Given the description of an element on the screen output the (x, y) to click on. 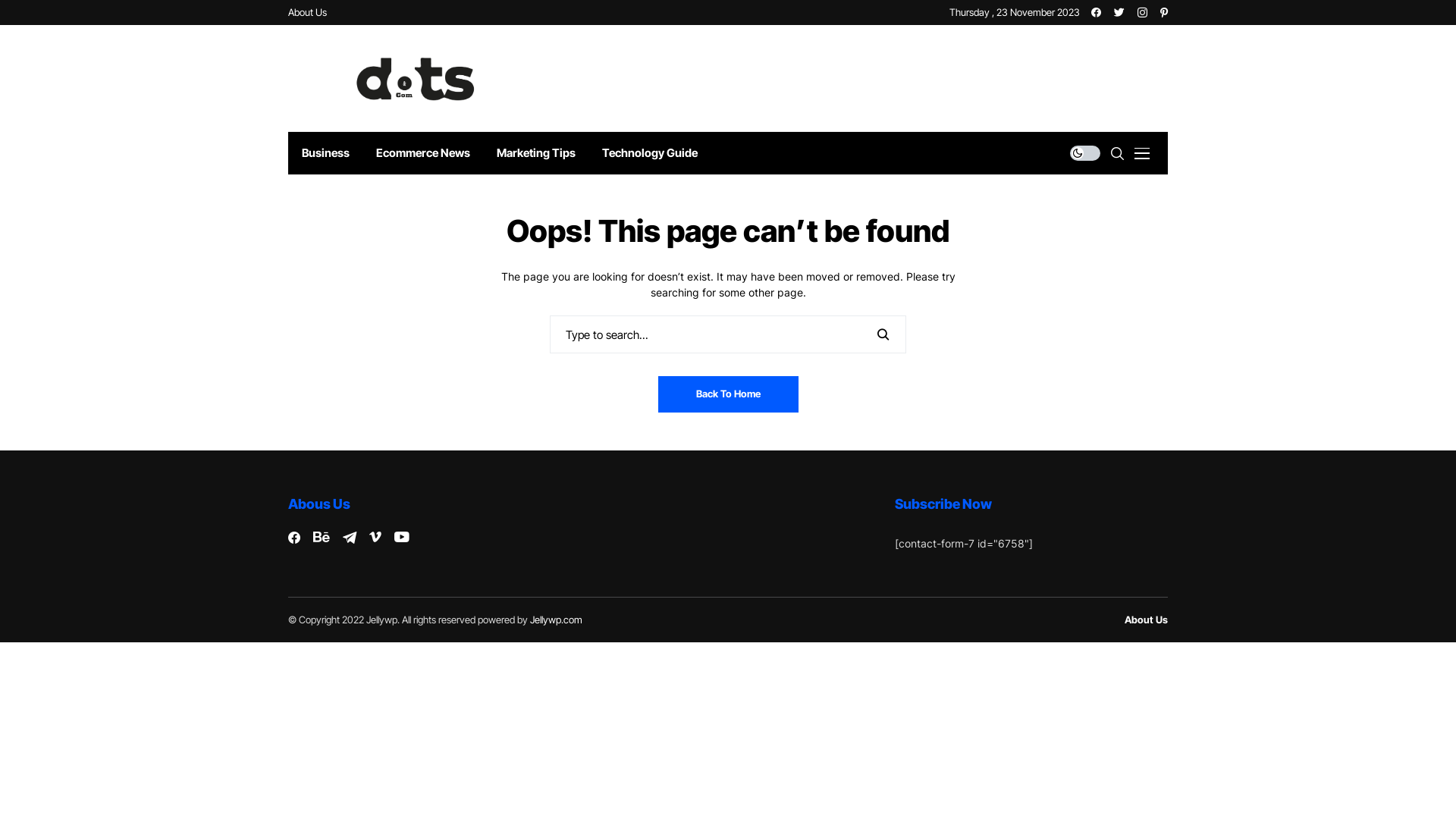
Technology Guide Element type: text (649, 152)
About Us Element type: text (1145, 620)
Business Element type: text (325, 152)
Marketing Tips Element type: text (535, 152)
About Us Element type: text (307, 12)
Back To Home Element type: text (728, 394)
Jellywp.com Element type: text (556, 619)
Ecommerce News Element type: text (422, 152)
